Given the description of an element on the screen output the (x, y) to click on. 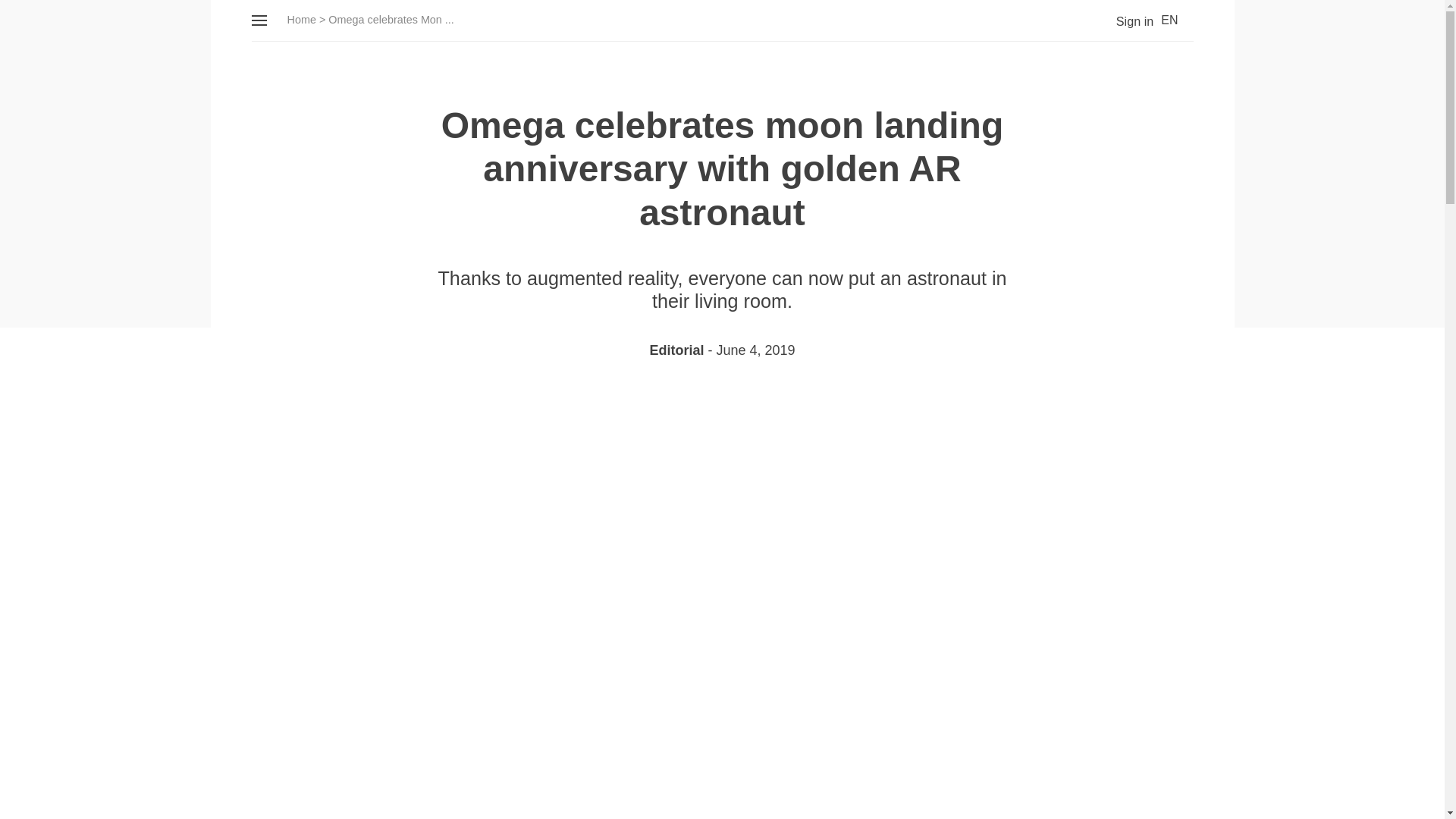
Share on Facebook (695, 405)
Home (300, 20)
Share by Email (776, 405)
Tweet this (667, 405)
Sign in (1122, 21)
